Given the description of an element on the screen output the (x, y) to click on. 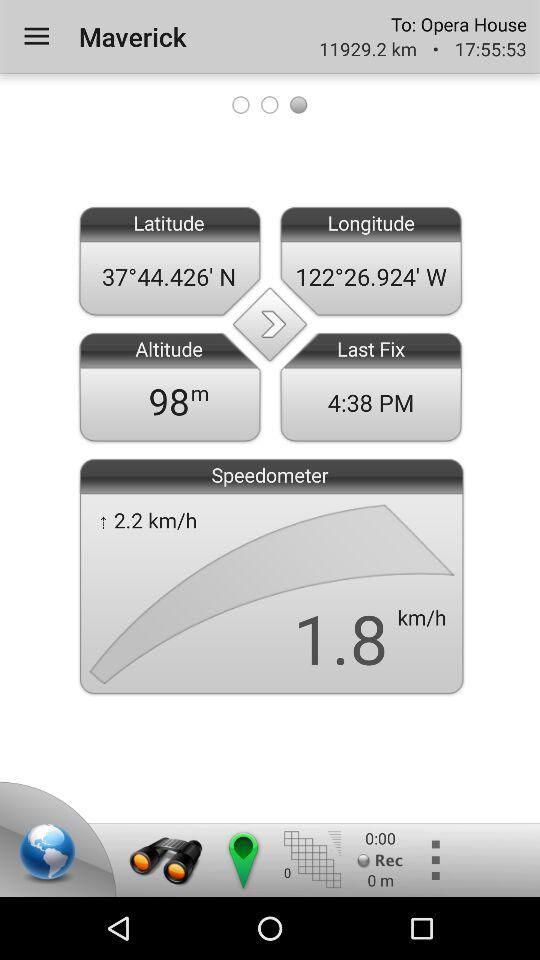
add a waypoint (242, 860)
